Given the description of an element on the screen output the (x, y) to click on. 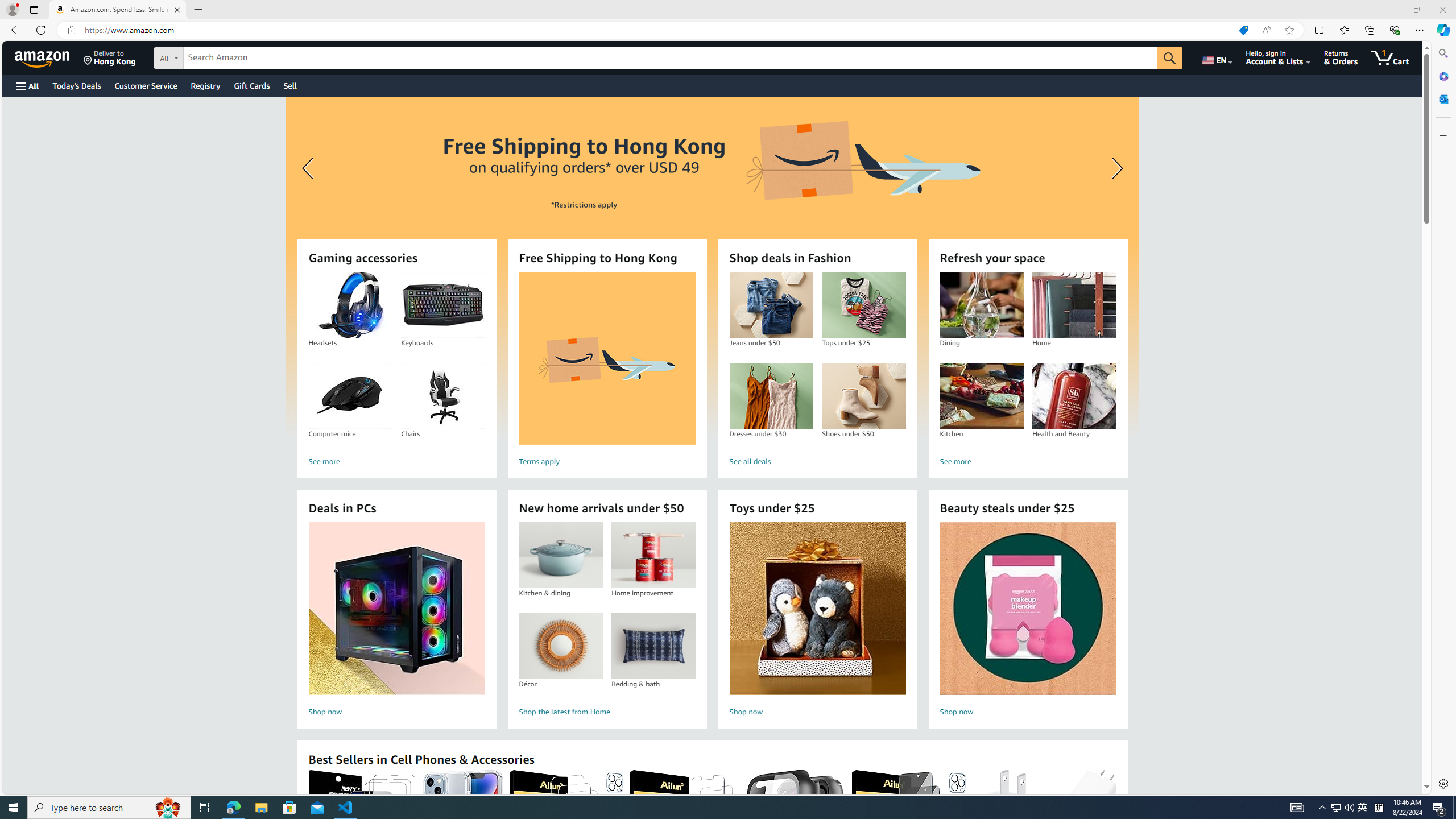
View site information (70, 29)
remote (9, 789)
Dresses under $30 (771, 395)
Search in (210, 56)
Previous Match (Shift+Enter) (1320, 60)
Add this page to favorites (Ctrl+D) (1289, 29)
Health and Beauty (1074, 395)
Settings and more (Alt+F) (1419, 29)
Microsoft 365 (1442, 76)
Find (1190, 60)
Minimize (1390, 9)
Previous slide (309, 168)
Timeline Section (99, 777)
Extensions (Ctrl+Shift+X) (13, 142)
